Given the description of an element on the screen output the (x, y) to click on. 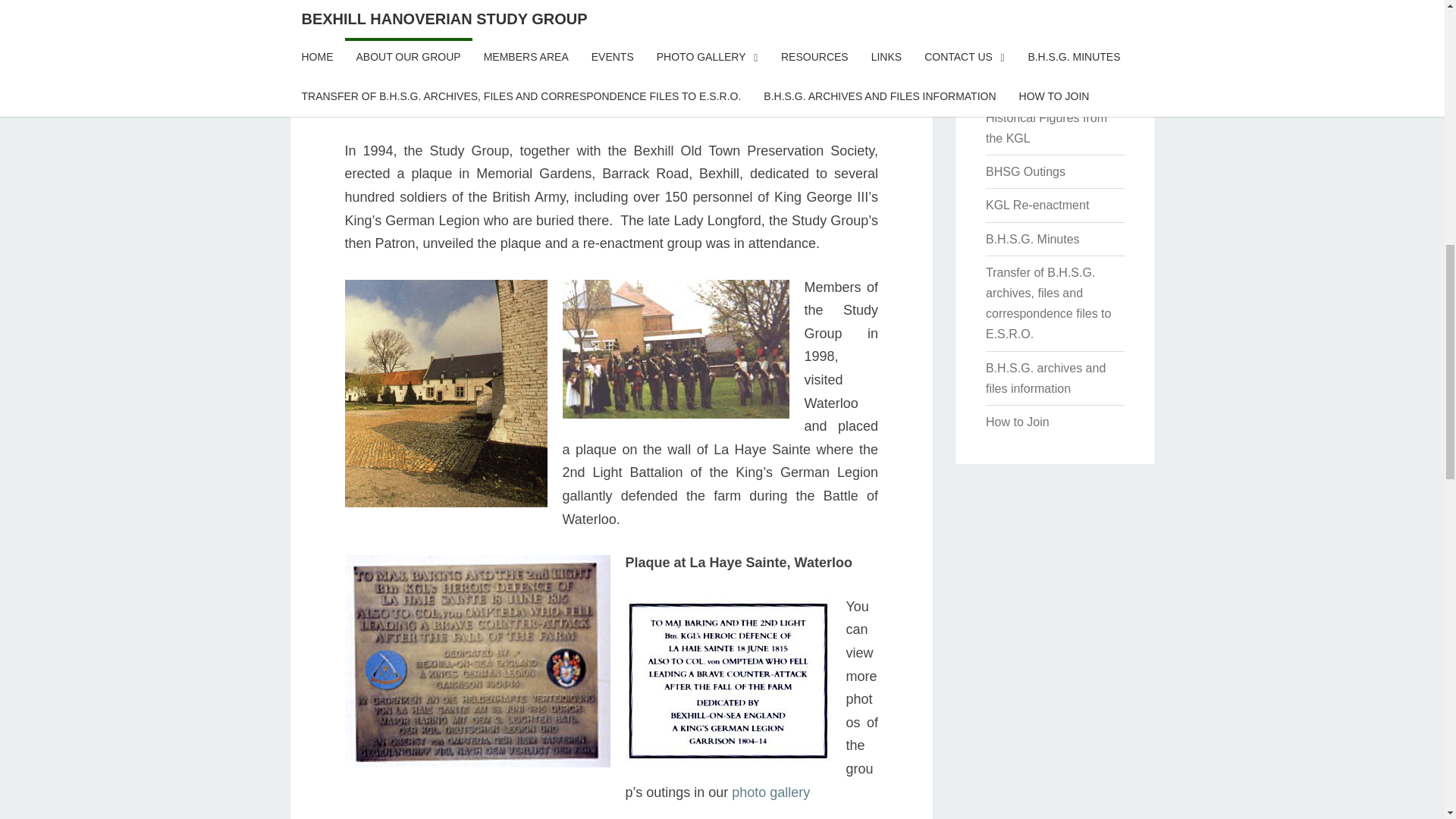
photo gallery (770, 792)
